Given the description of an element on the screen output the (x, y) to click on. 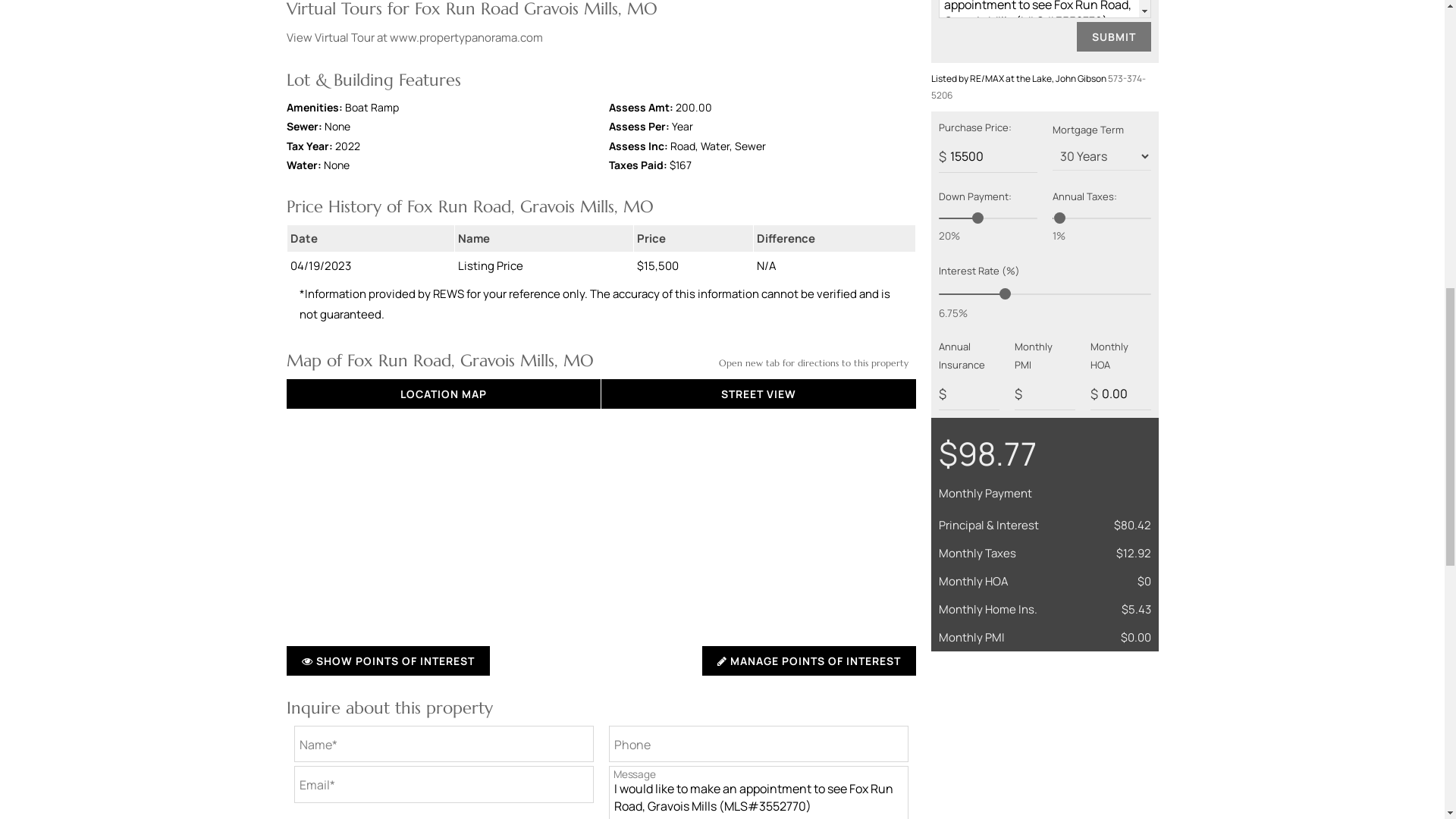
0.00 (1120, 393)
20 (987, 218)
1 (1101, 218)
15500 (987, 156)
